Given the description of an element on the screen output the (x, y) to click on. 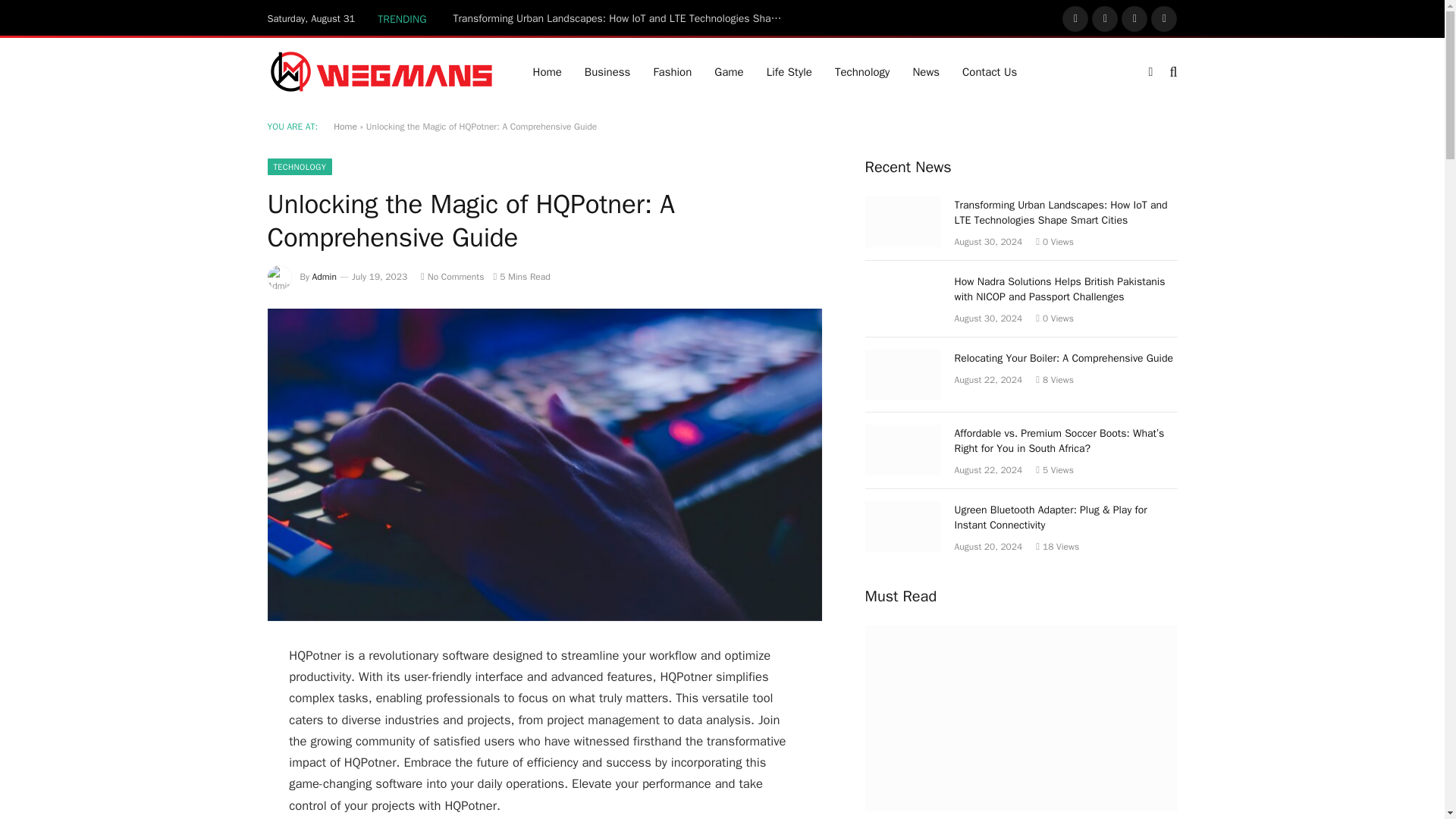
Pinterest (1163, 18)
Admin (324, 276)
wegmans.co.uk (380, 71)
Switch to Dark Design - easier on eyes. (1149, 70)
Technology (862, 71)
Fashion (672, 71)
TECHNOLOGY (298, 166)
Home (344, 126)
